Given the description of an element on the screen output the (x, y) to click on. 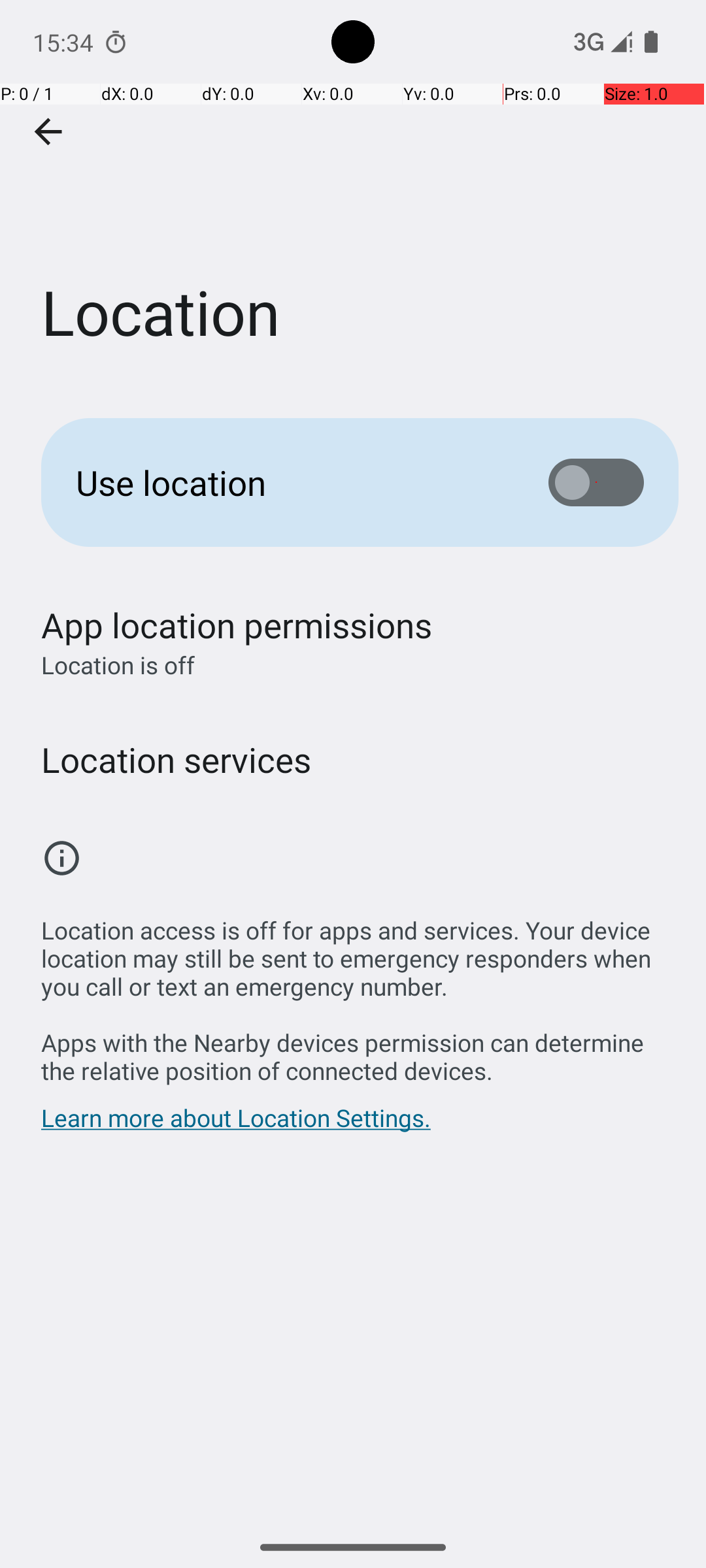
Use location Element type: android.widget.TextView (291, 482)
App location permissions Element type: android.widget.TextView (236, 1142)
Location is off Element type: android.widget.TextView (117, 1144)
